Given the description of an element on the screen output the (x, y) to click on. 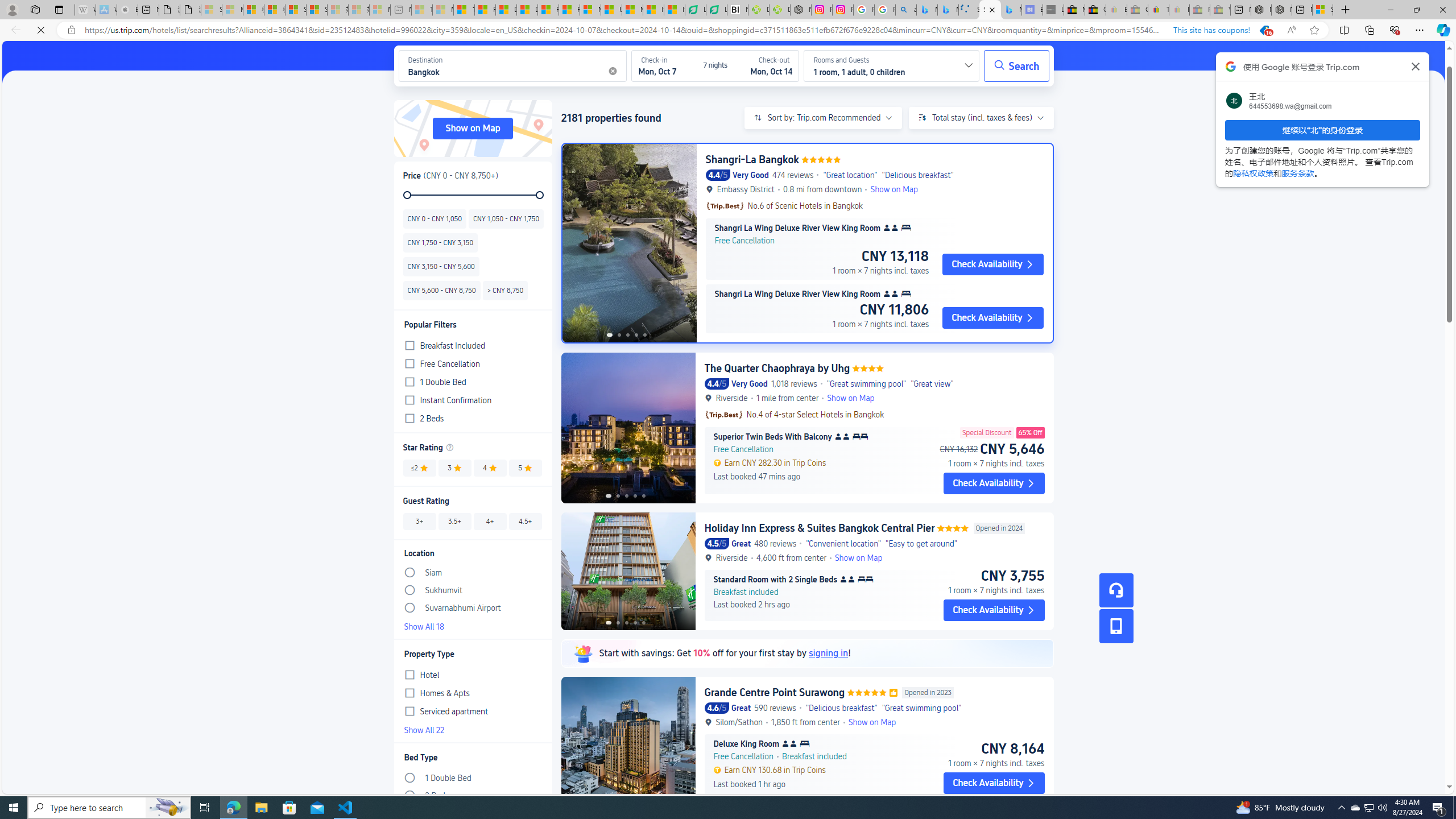
alabama high school quarterback dies - Search (906, 9)
Buy iPad - Apple - Sleeping (127, 9)
US Heat Deaths Soared To Record High Last Year (610, 9)
Show All 18 (472, 624)
Food and Drink - MSN (485, 9)
